Given the description of an element on the screen output the (x, y) to click on. 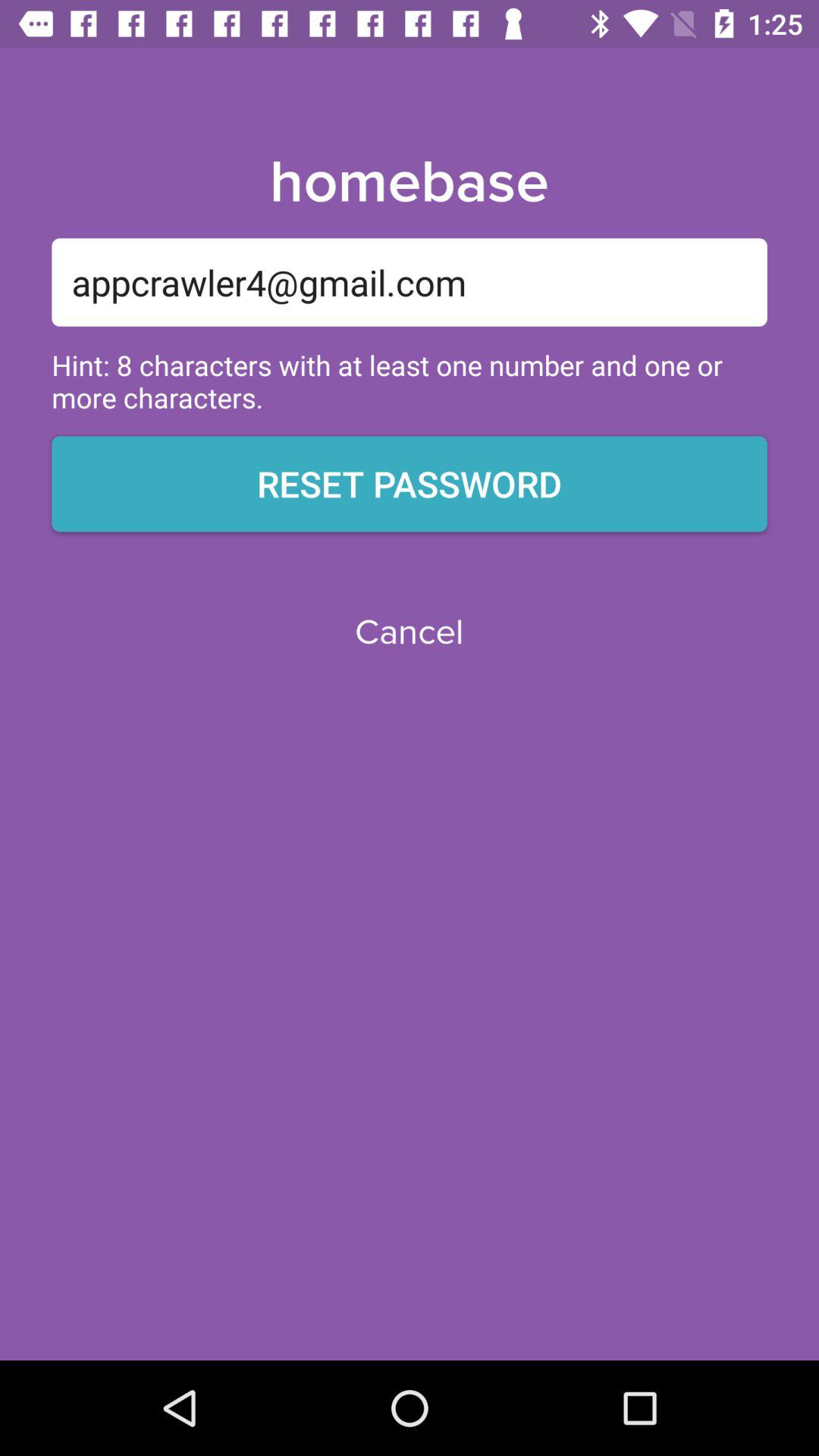
turn on the item below reset password icon (408, 632)
